Given the description of an element on the screen output the (x, y) to click on. 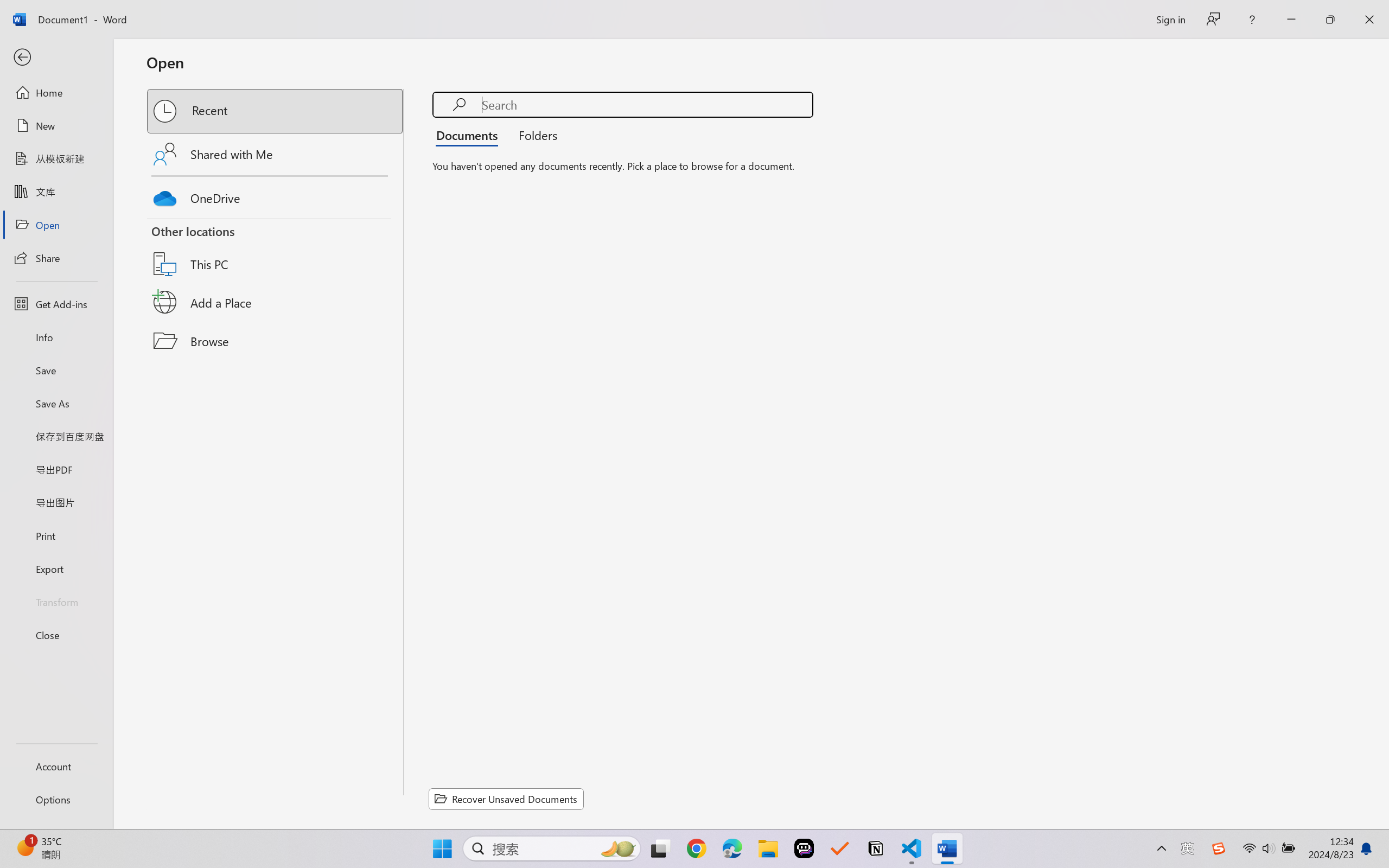
Transform (56, 601)
OneDrive (275, 195)
Account (56, 765)
Documents (469, 134)
Info (56, 337)
